Given the description of an element on the screen output the (x, y) to click on. 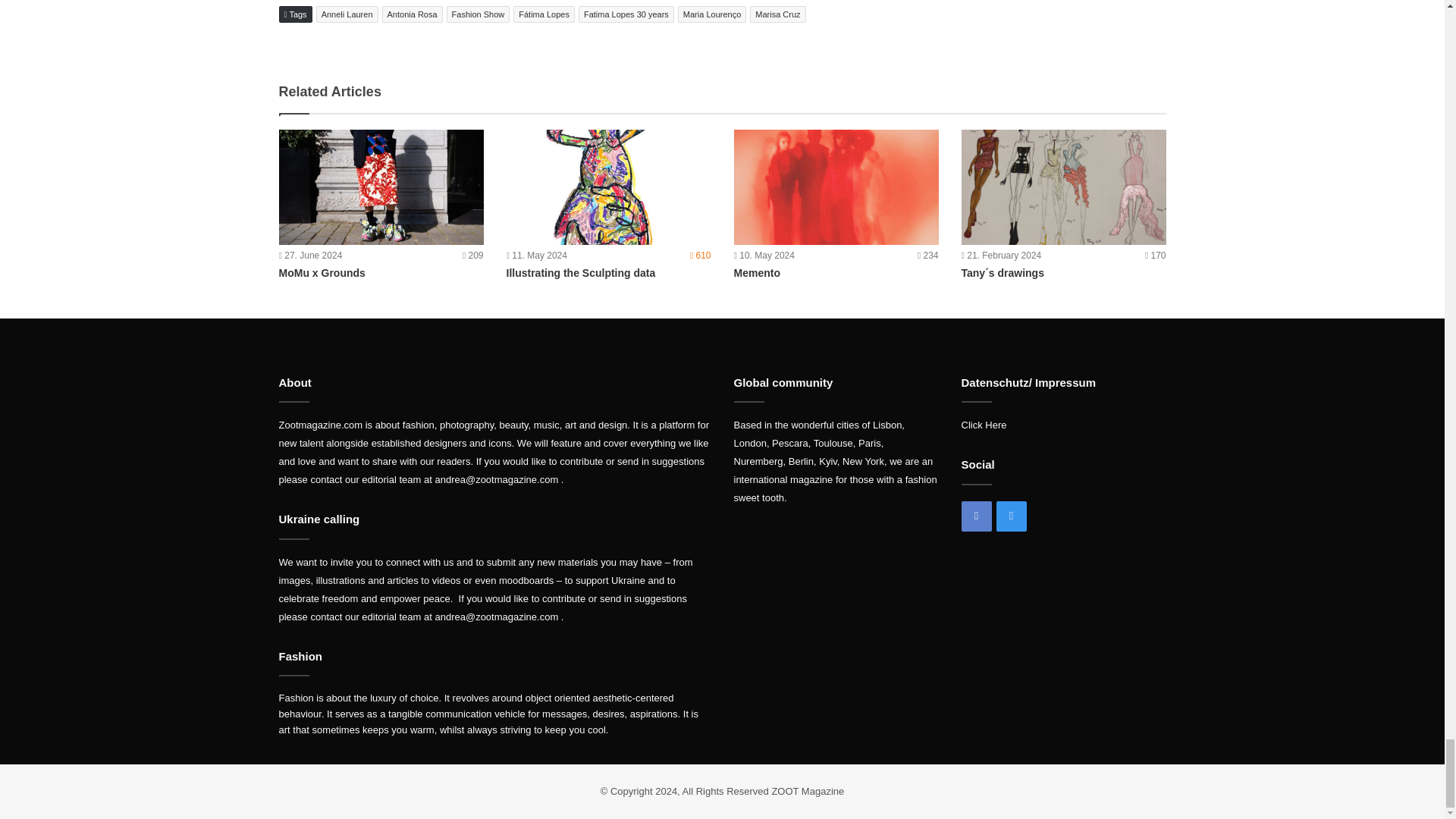
Fatima Lopes 30 years (626, 13)
Antonia Rosa (411, 13)
Memento (756, 272)
MoMu x Grounds (381, 186)
MoMu x Grounds (322, 272)
Marisa Cruz (777, 13)
Illustrating the Sculpting data (581, 272)
Illustrating the Sculpting data (608, 186)
Memento (836, 186)
Facebook (975, 516)
